Given the description of an element on the screen output the (x, y) to click on. 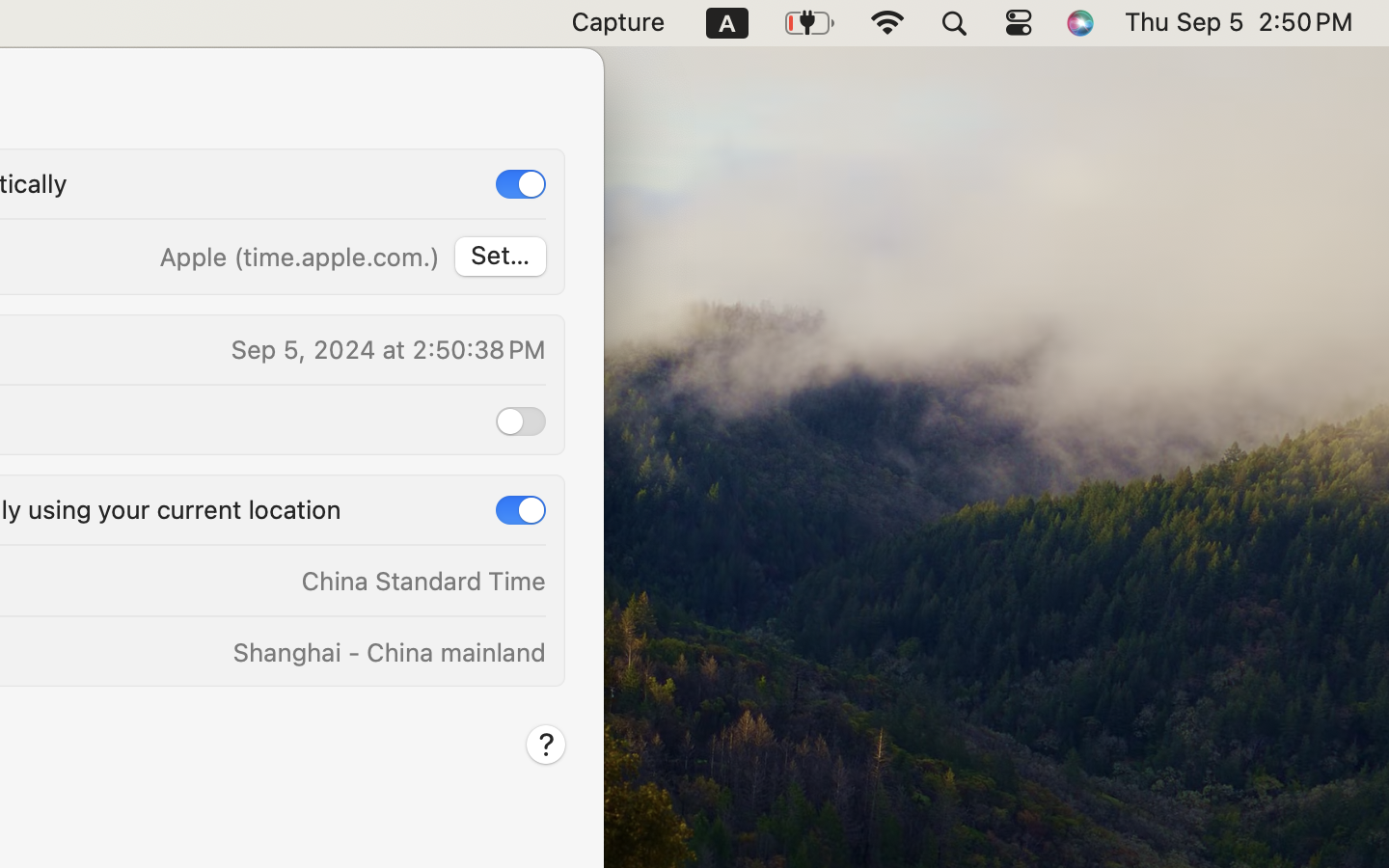
Shanghai - China mainland Element type: AXStaticText (387, 651)
Sep 5, 2024 at 2:50:38 PM Element type: AXStaticText (386, 348)
Apple (time.apple.com.) Element type: AXStaticText (297, 256)
China Standard Time Element type: AXStaticText (423, 580)
